Given the description of an element on the screen output the (x, y) to click on. 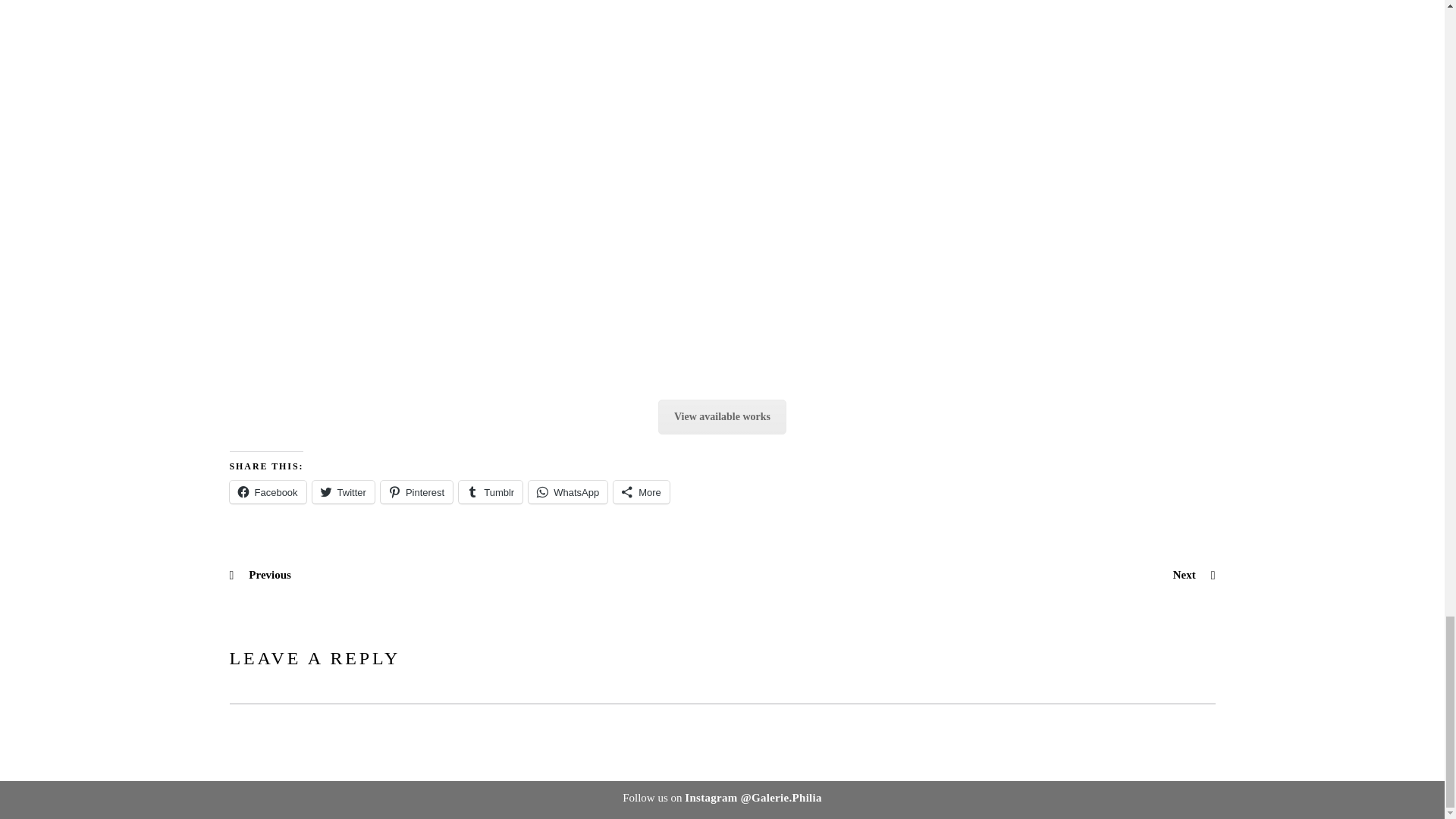
View available works (722, 416)
Jan Ernst (722, 416)
Facebook (266, 491)
Click to share on Tumblr (490, 491)
WhatsApp (567, 491)
Click to share on Facebook (266, 491)
Tumblr (490, 491)
Click to share on WhatsApp (567, 491)
Click to share on Pinterest (416, 491)
Twitter (343, 491)
Pinterest (416, 491)
Click to share on Twitter (343, 491)
More (640, 491)
